Given the description of an element on the screen output the (x, y) to click on. 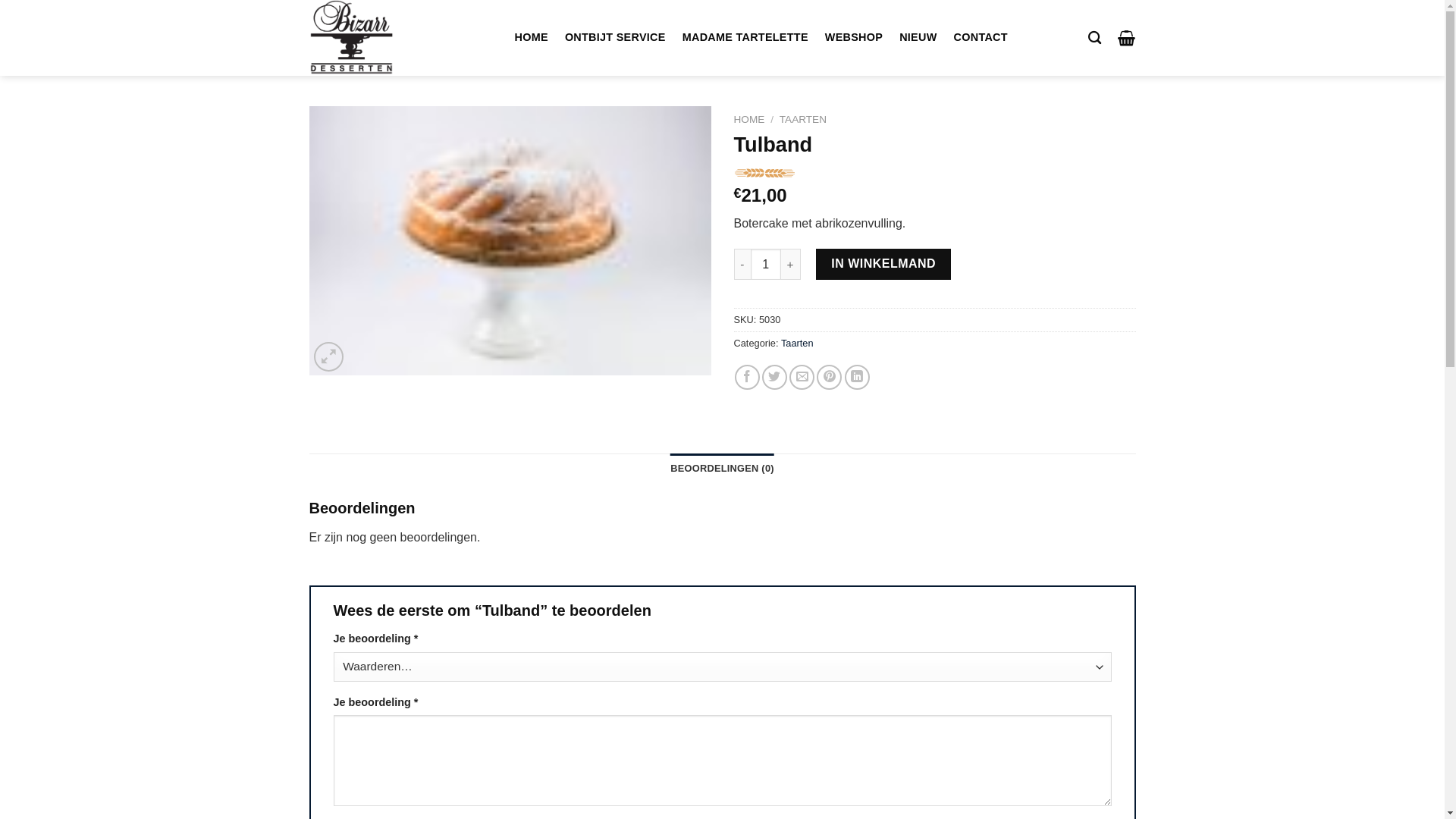
NIEUW Element type: text (917, 37)
MADAME TARTELETTE Element type: text (745, 37)
ONTBIJT SERVICE Element type: text (614, 37)
CONTACT Element type: text (980, 37)
Email to a Friend Element type: hover (801, 376)
TAARTEN Element type: text (802, 119)
Zoom Element type: hover (328, 356)
Taarten Element type: text (797, 342)
Aantal Element type: hover (765, 263)
Share on Facebook Element type: hover (746, 376)
HOME Element type: text (531, 37)
Share on Twitter Element type: hover (774, 376)
Share on LinkedIn Element type: hover (856, 376)
5030-Tulbandcake-min-750x500 Element type: hover (510, 240)
WEBSHOP Element type: text (853, 37)
IN WINKELMAND Element type: text (882, 263)
Winkelmand Element type: hover (1126, 37)
BEOORDELINGEN (0) Element type: text (722, 468)
Bizarr - Desserten Element type: hover (360, 37)
Pin on Pinterest Element type: hover (828, 376)
HOME Element type: text (749, 119)
